Given the description of an element on the screen output the (x, y) to click on. 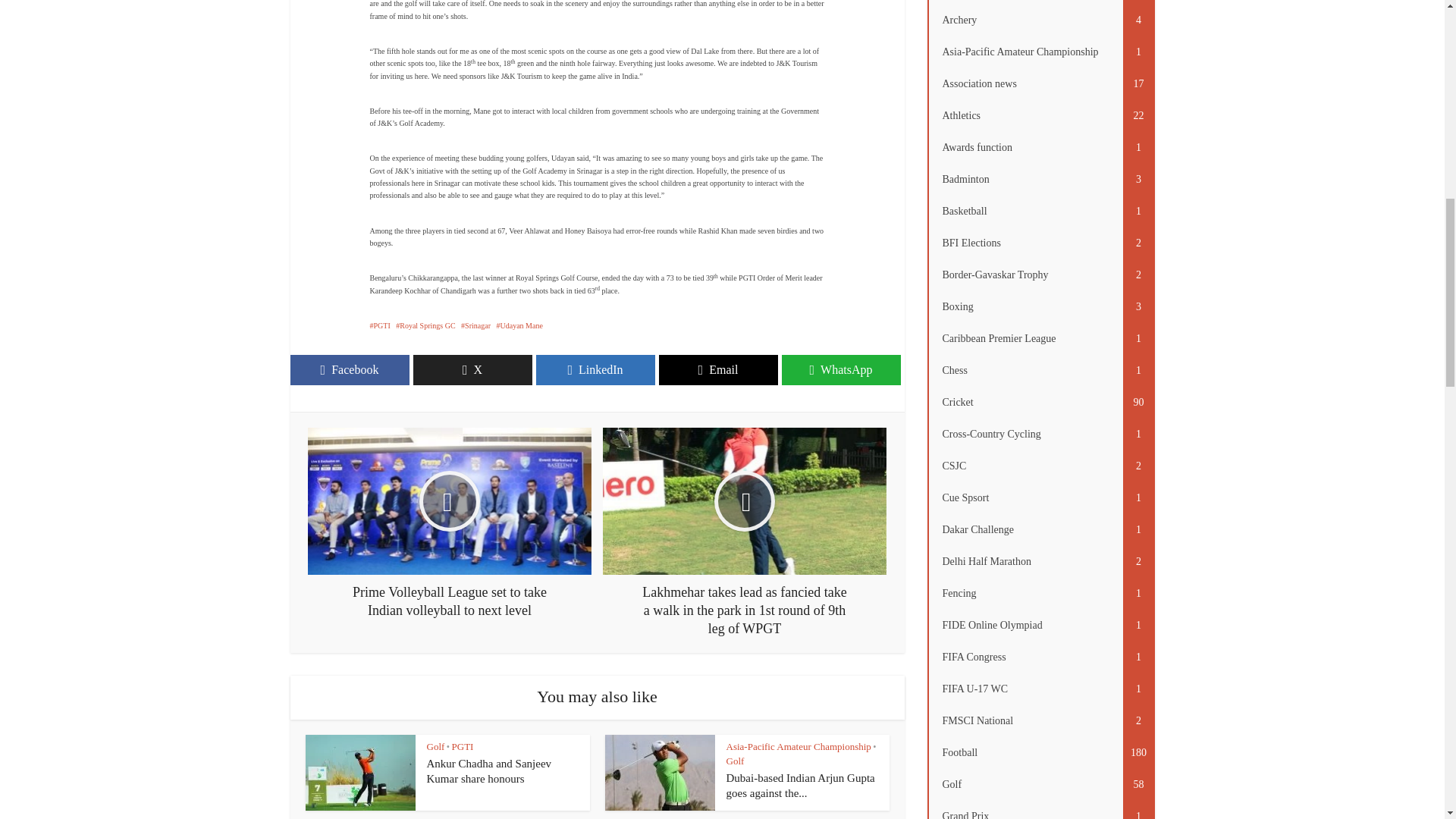
Srinagar (475, 325)
Royal Springs GC (425, 325)
Udayan Mane (518, 325)
PGTI (379, 325)
Ankur Chadha and Sanjeev Kumar share honours (488, 770)
